Given the description of an element on the screen output the (x, y) to click on. 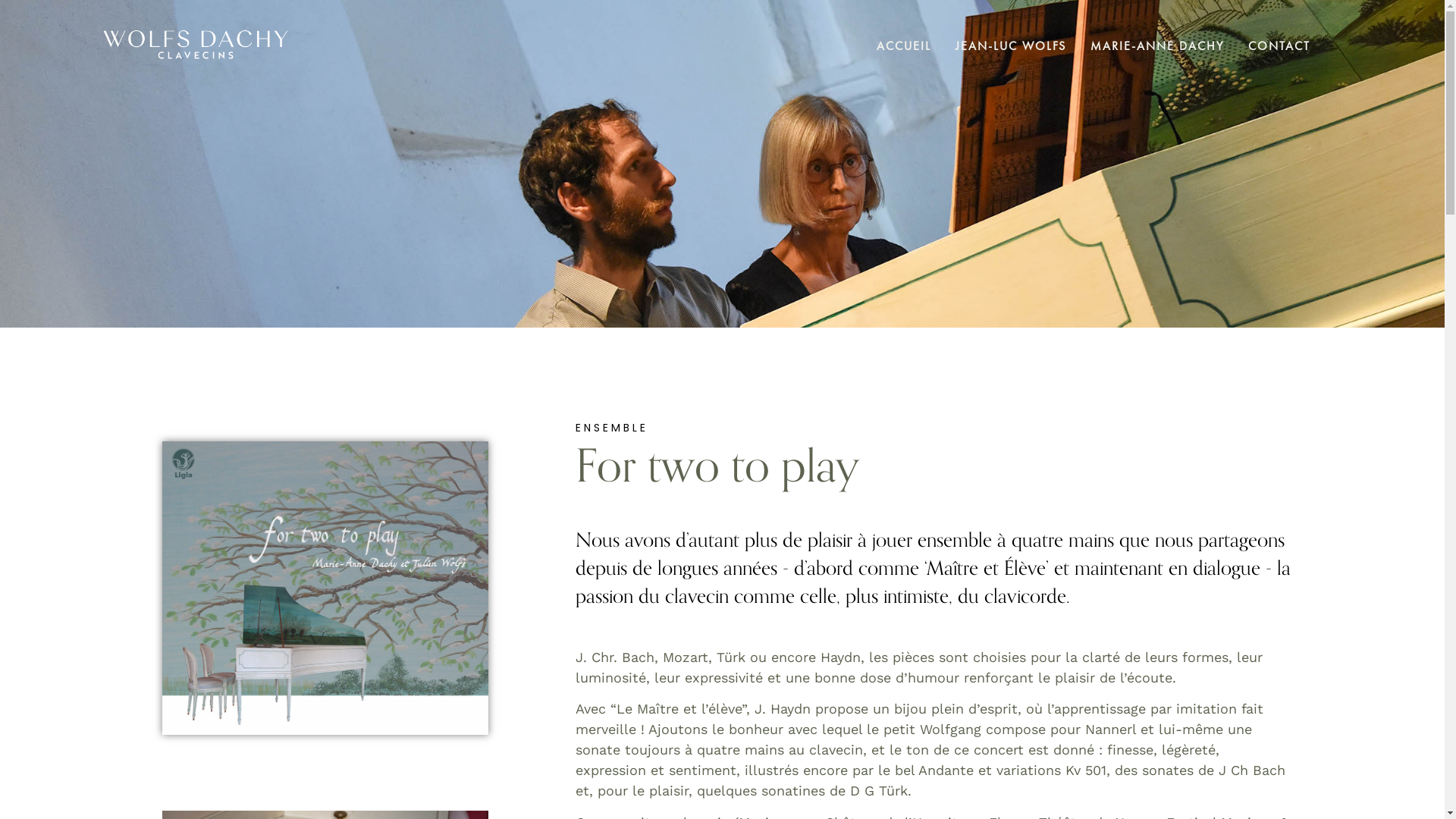
CONTACT Element type: text (1279, 44)
JEAN-LUC WOLFS Element type: text (1010, 44)
ACCUEIL Element type: text (903, 44)
MARIE-ANNE DACHY Element type: text (1156, 44)
